Given the description of an element on the screen output the (x, y) to click on. 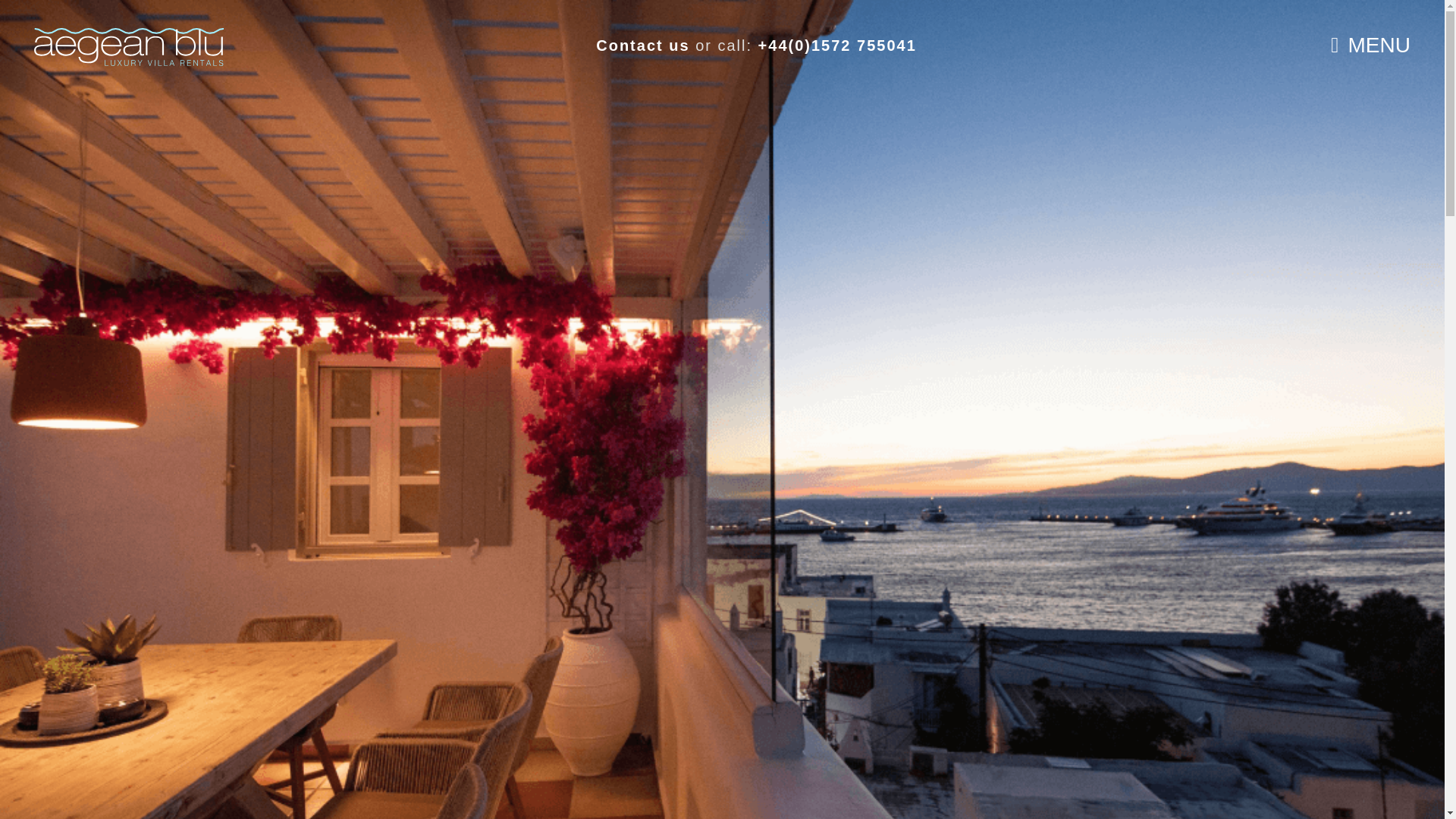
Contact Mykonos Villas Greece (641, 45)
MENU (1370, 45)
Contact us (641, 45)
Click to call (837, 45)
